Given the description of an element on the screen output the (x, y) to click on. 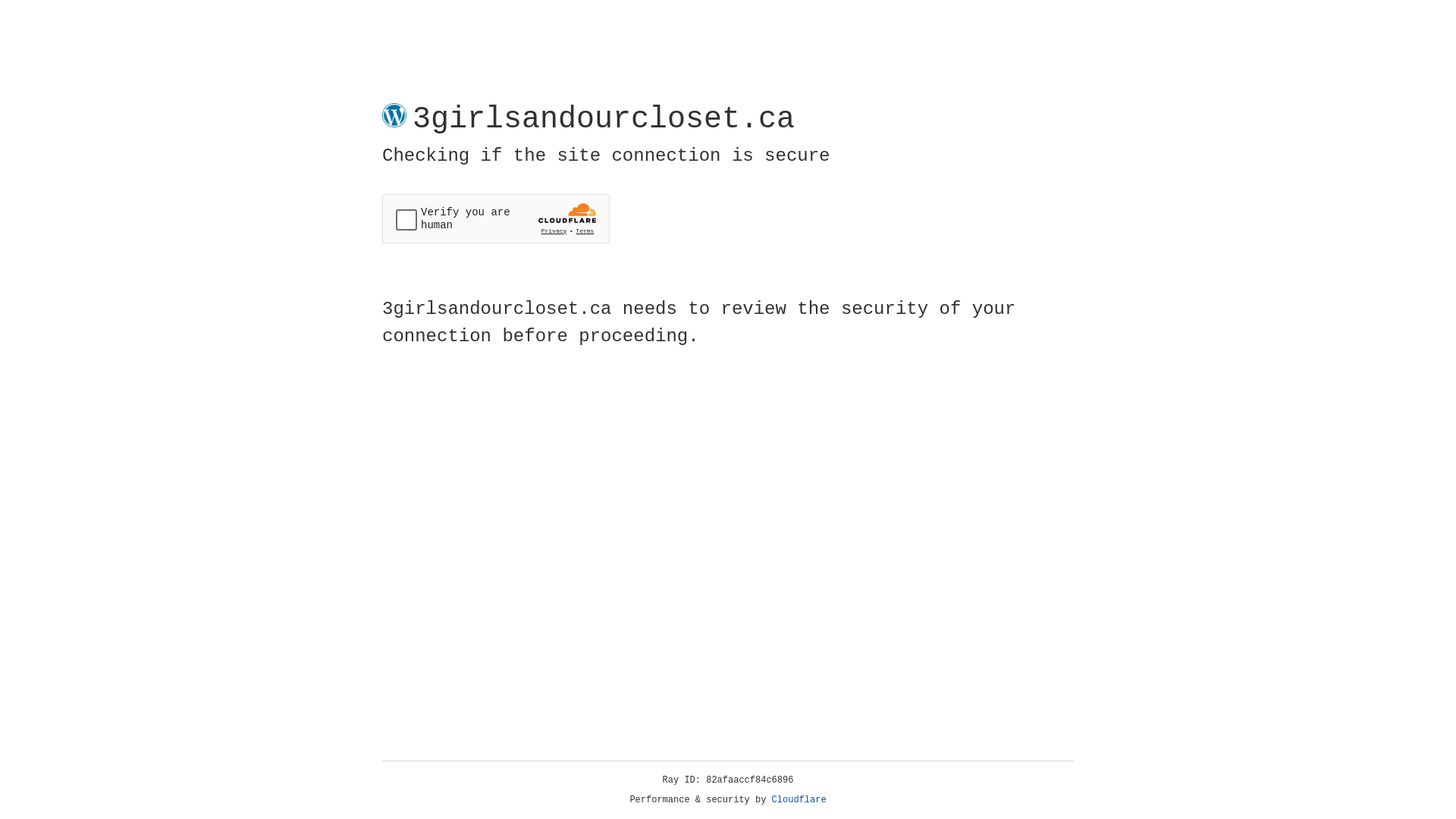
Widget containing a Cloudflare security challenge Element type: hover (495, 218)
Cloudflare Element type: text (798, 799)
